Given the description of an element on the screen output the (x, y) to click on. 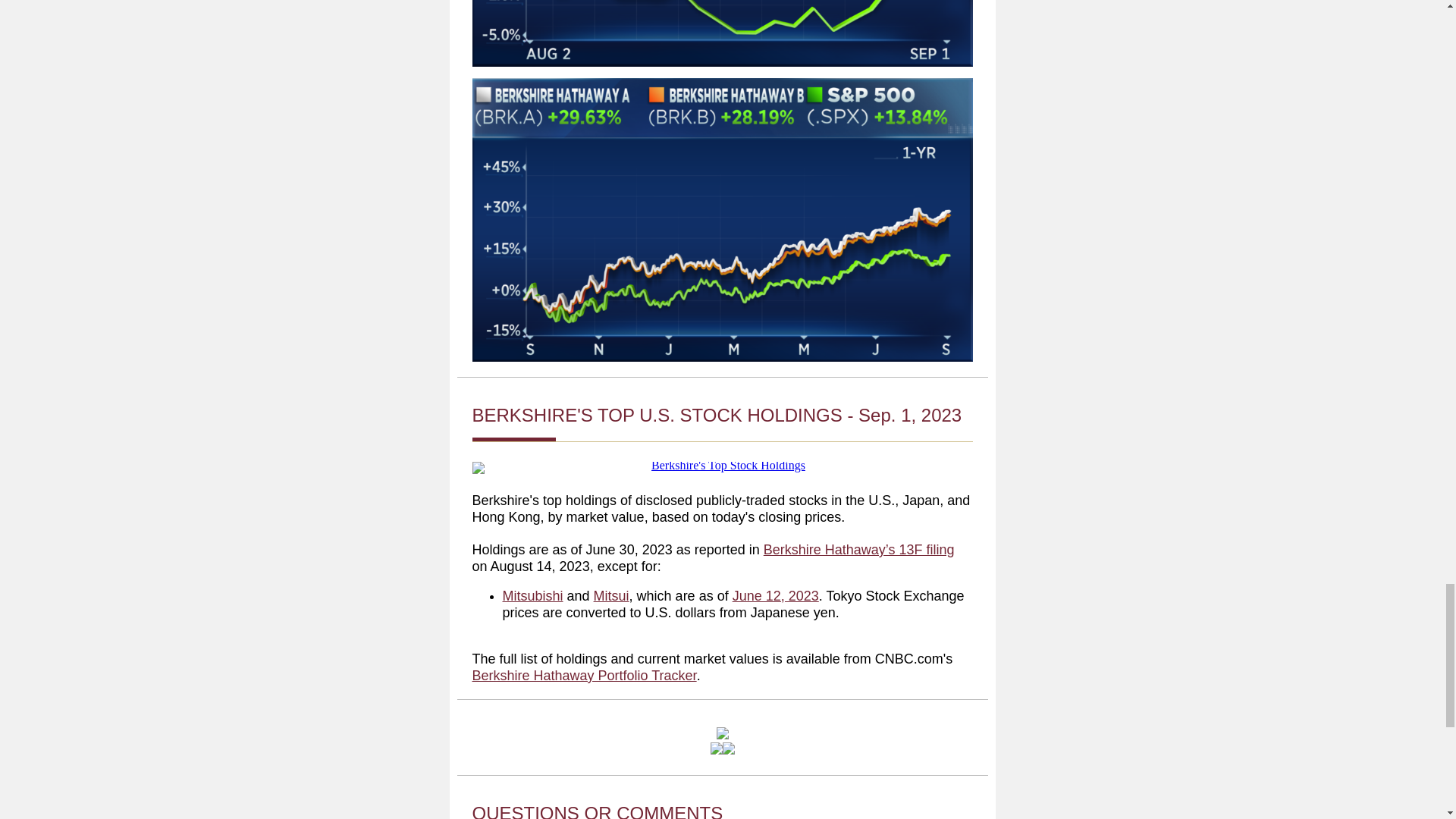
Berkshire's Top Stock Holdings (721, 467)
